Given the description of an element on the screen output the (x, y) to click on. 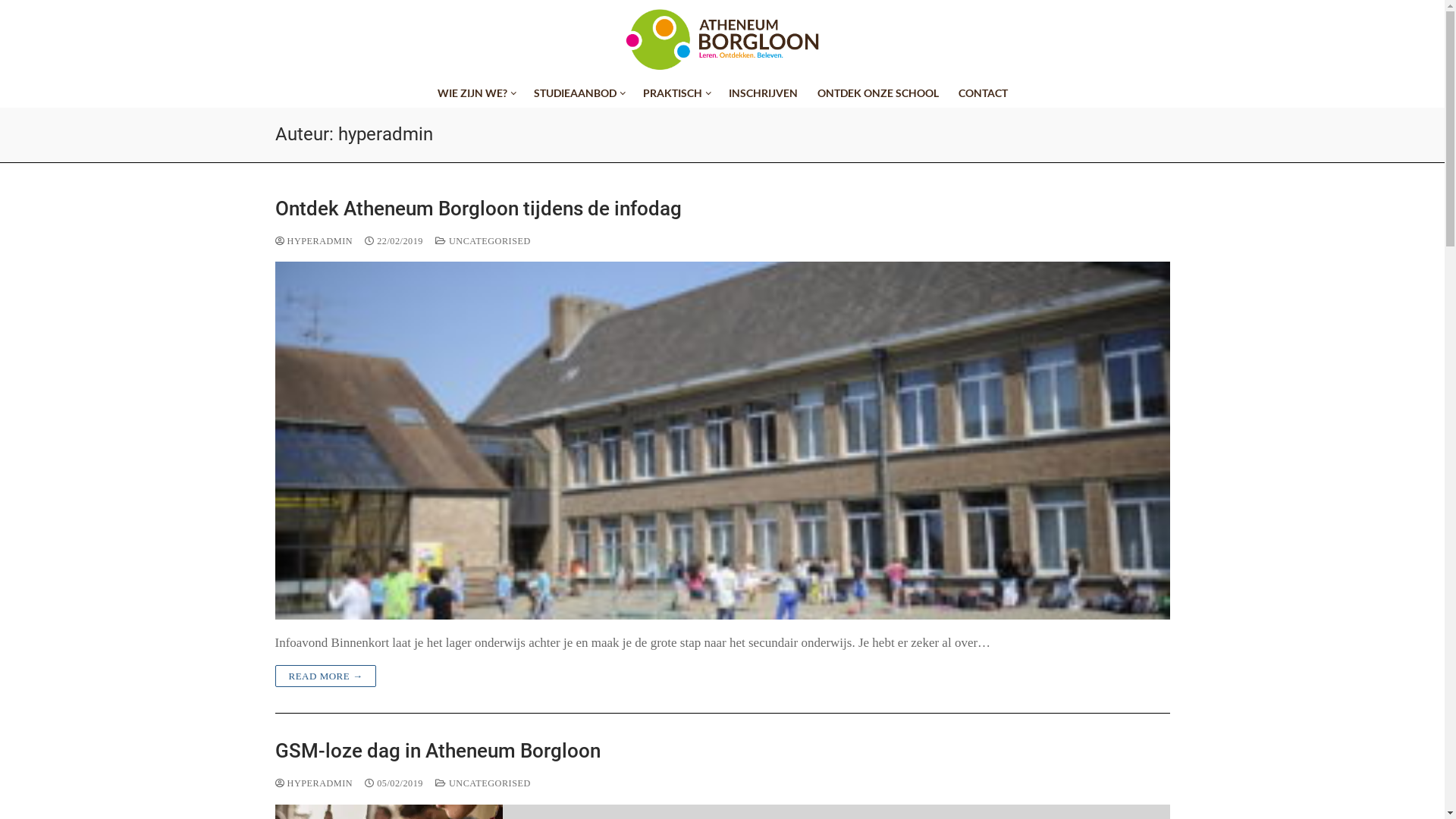
ONTDEK ONZE SCHOOL Element type: text (876, 92)
GSM-loze dag in Atheneum Borgloon Element type: text (721, 750)
STUDIEAANBOD
  Element type: text (577, 92)
INSCHRIJVEN Element type: text (762, 92)
WIE ZIJN WE?
  Element type: text (475, 92)
PRAKTISCH
  Element type: text (675, 92)
UNCATEGORISED Element type: text (482, 240)
05/02/2019 Element type: text (393, 783)
Ontdek Atheneum Borgloon tijdens de infodag Element type: text (721, 208)
UNCATEGORISED Element type: text (482, 783)
22/02/2019 Element type: text (393, 240)
HYPERADMIN Element type: text (313, 783)
CONTACT Element type: text (981, 92)
HYPERADMIN Element type: text (313, 240)
Ontdek Atheneum Borgloon tijdens de infodag Element type: hover (721, 440)
